Given the description of an element on the screen output the (x, y) to click on. 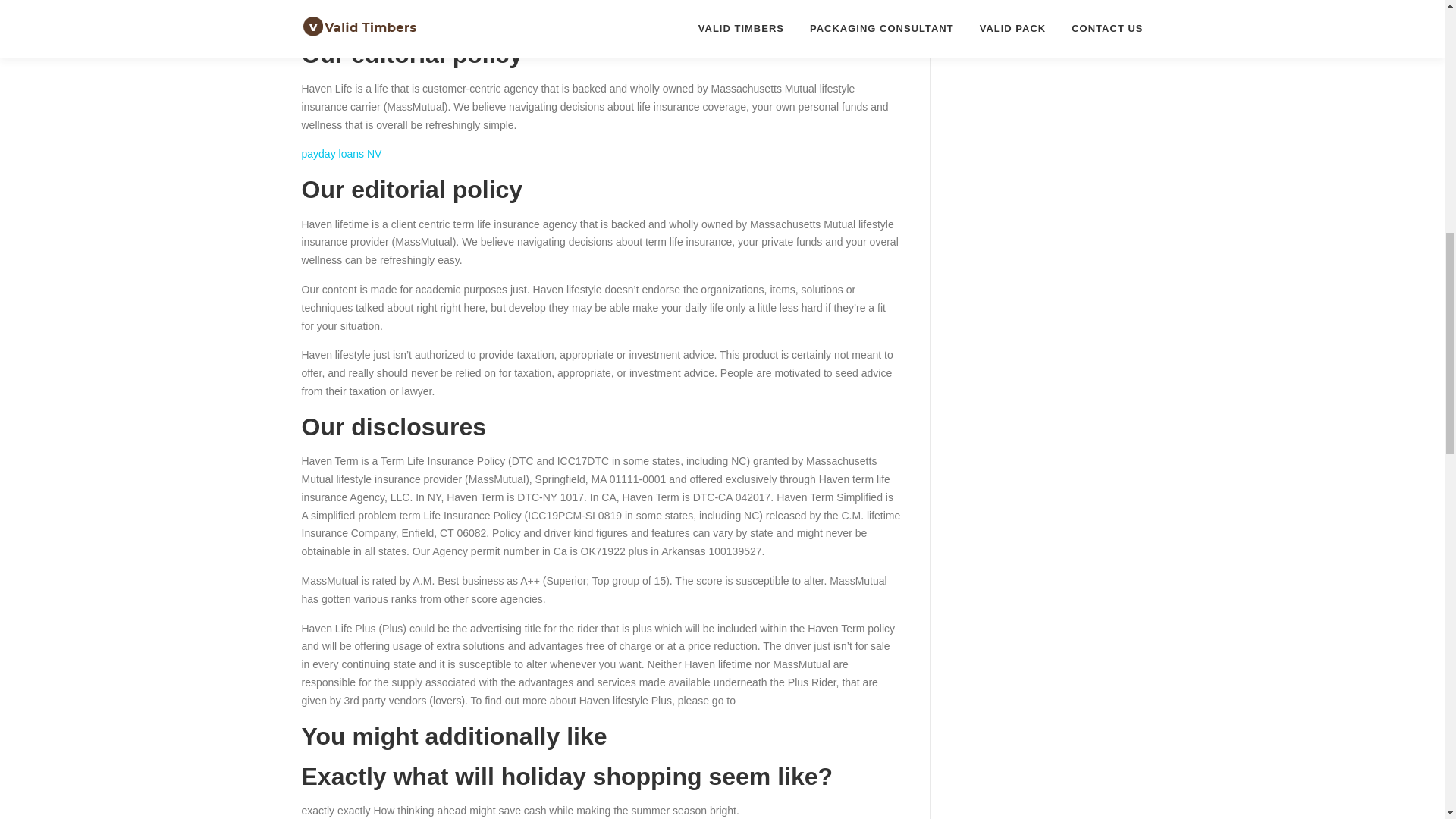
payday loans NV (341, 153)
